Given the description of an element on the screen output the (x, y) to click on. 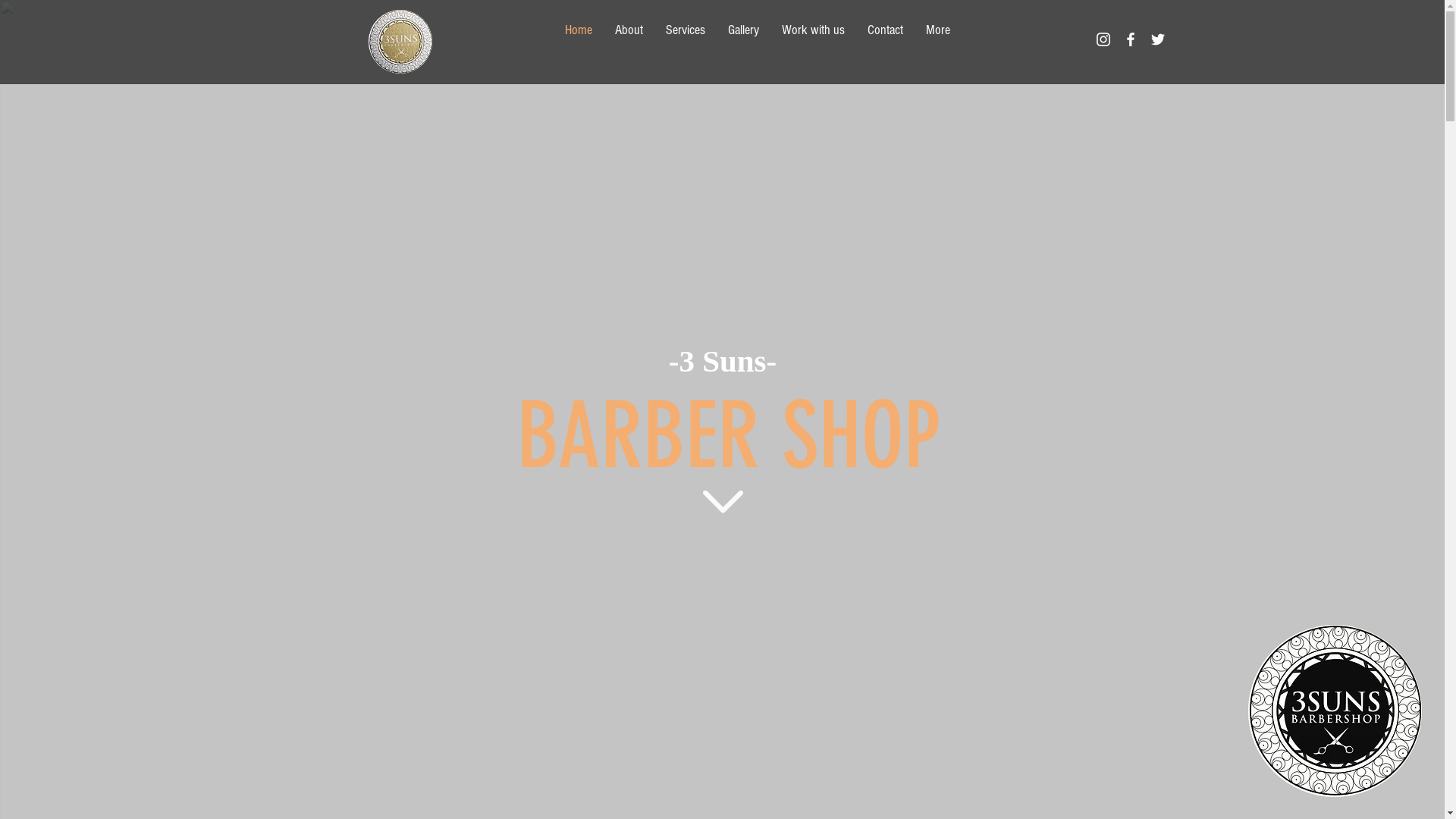
Work with us Element type: text (813, 39)
Contact Element type: text (884, 39)
About Element type: text (628, 39)
Home Element type: text (578, 39)
Gallery Element type: text (742, 39)
Services Element type: text (684, 39)
